Given the description of an element on the screen output the (x, y) to click on. 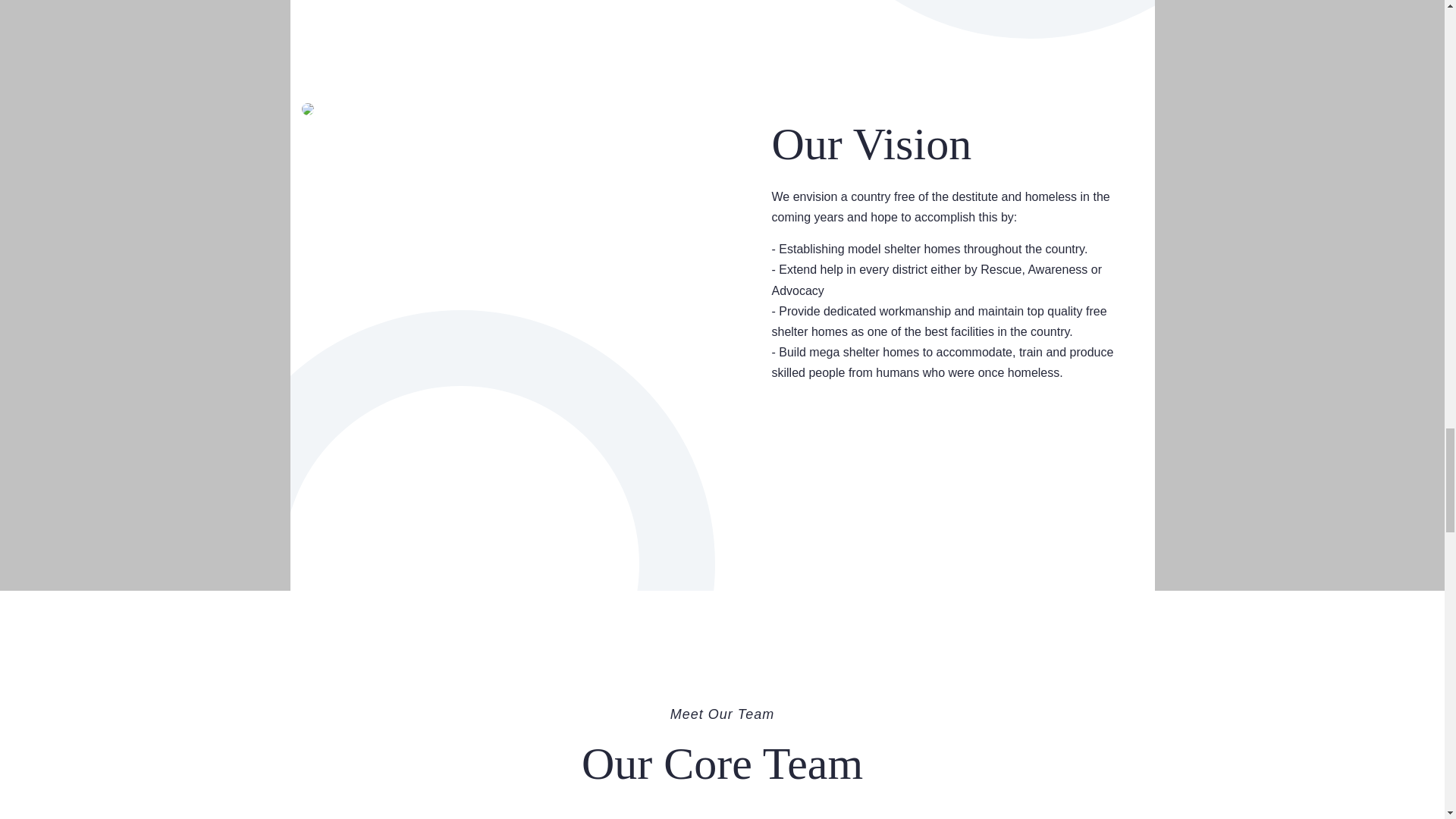
Read More (836, 447)
